Given the description of an element on the screen output the (x, y) to click on. 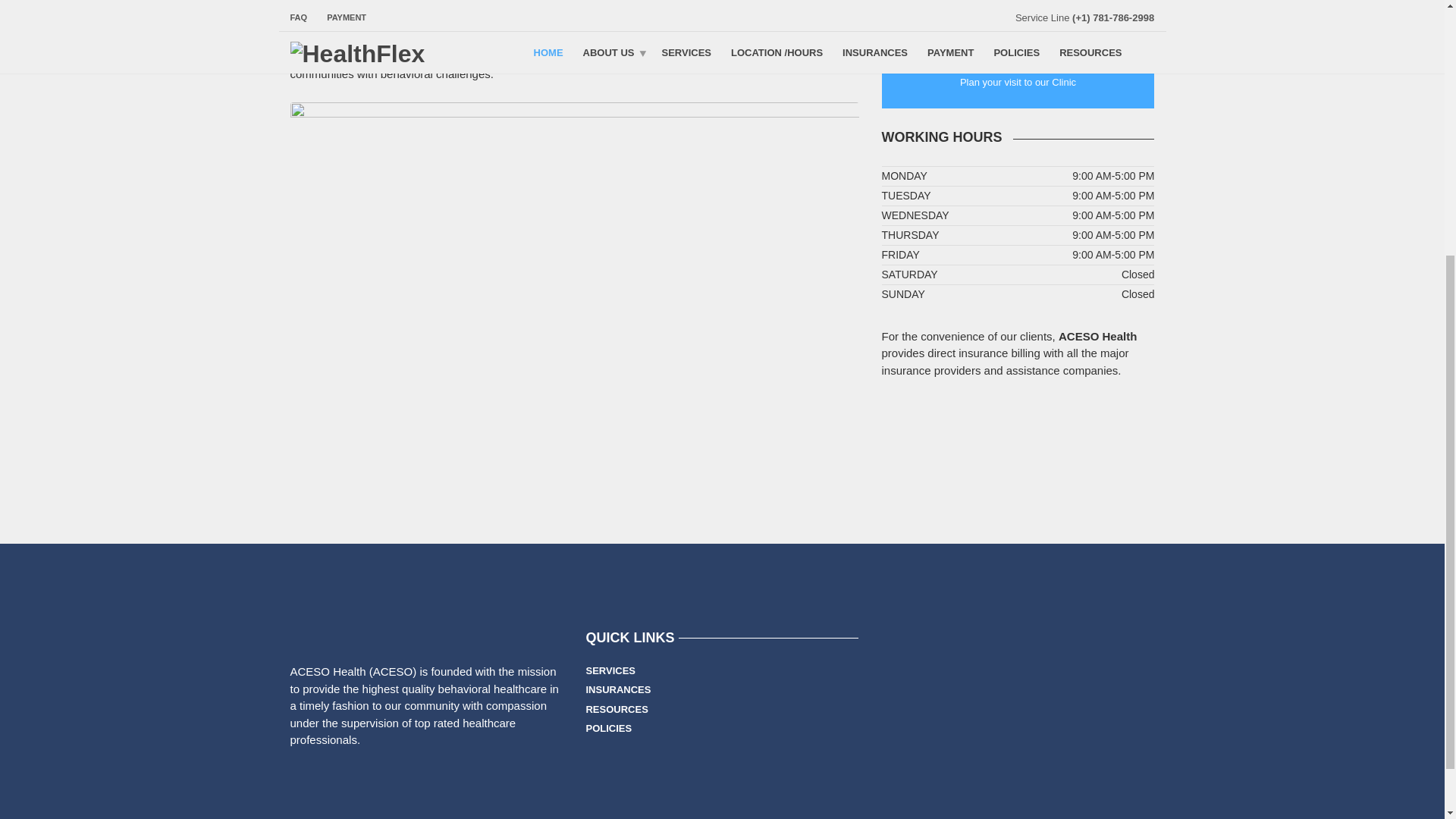
RESOURCES (616, 709)
POLICIES (608, 728)
INSURANCES (617, 690)
SERVICES (609, 670)
